Given the description of an element on the screen output the (x, y) to click on. 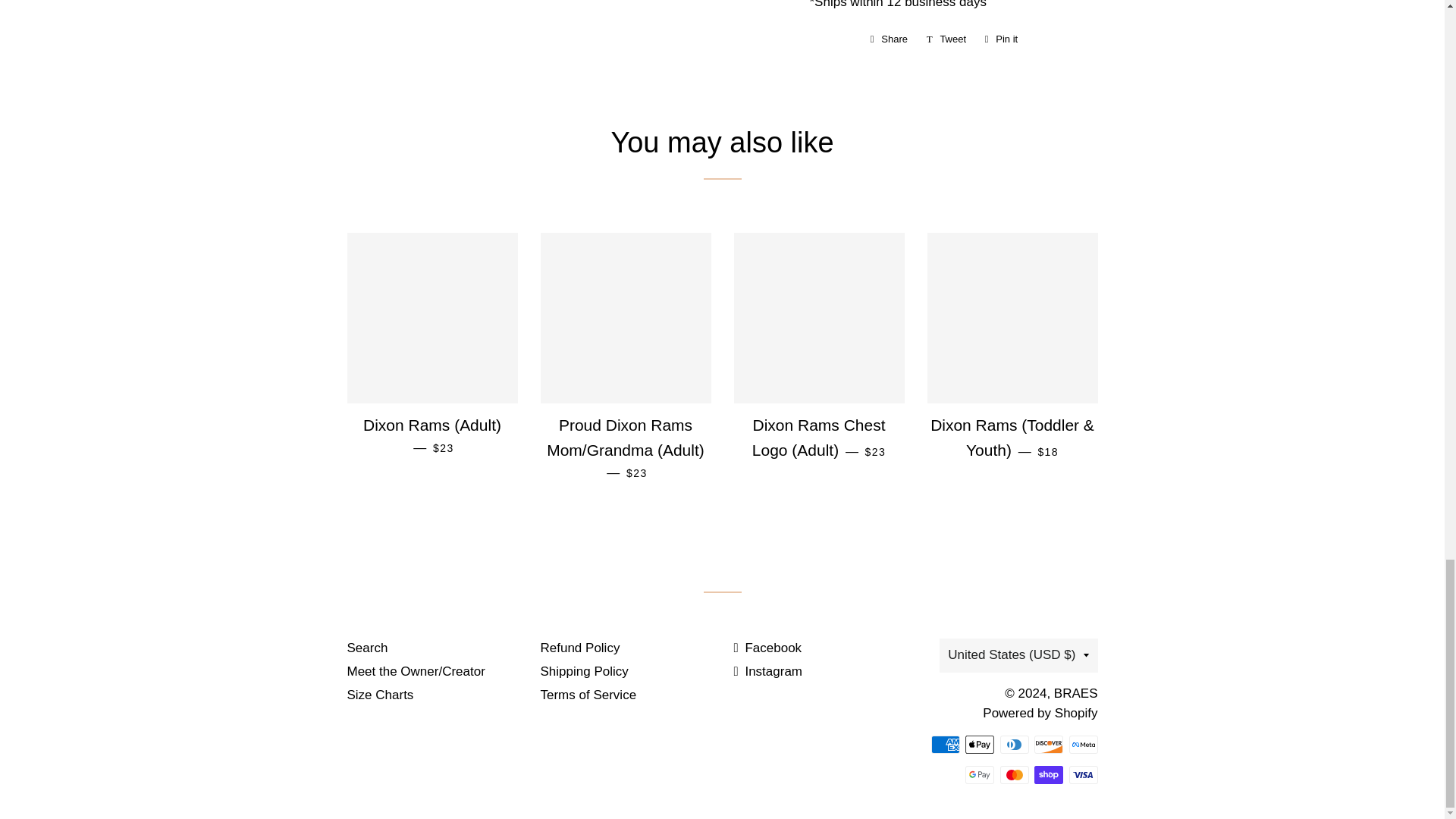
Shop Pay (1047, 774)
Visa (1082, 774)
Tweet on Twitter (946, 38)
BRAES on Facebook (767, 647)
Pin on Pinterest (1000, 38)
Discover (1047, 744)
Diners Club (1012, 744)
Mastercard (1012, 774)
American Express (945, 744)
Apple Pay (979, 744)
Meta Pay (1082, 744)
BRAES on Instagram (768, 671)
Google Pay (979, 774)
Share on Facebook (889, 38)
